Given the description of an element on the screen output the (x, y) to click on. 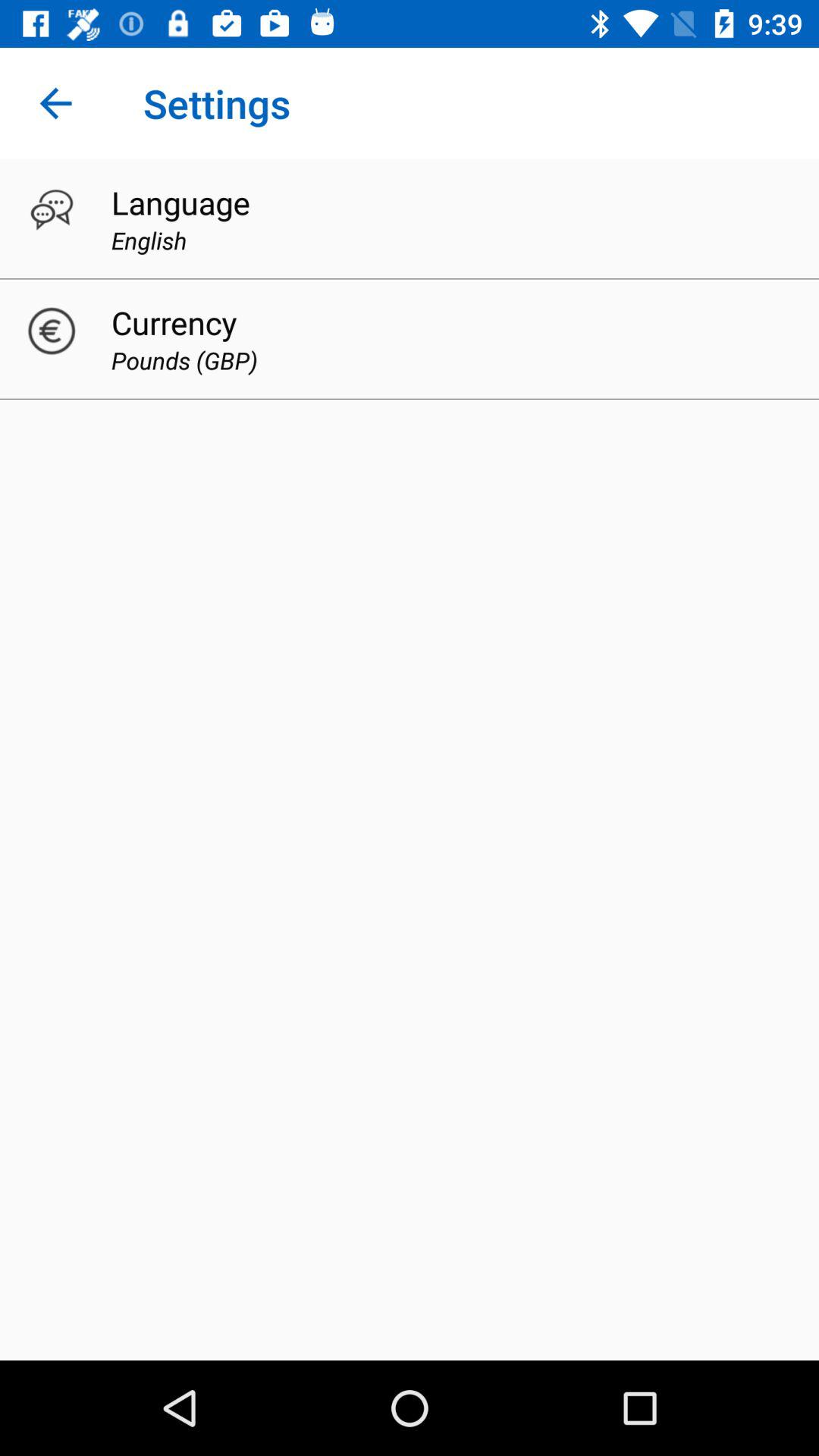
tap the icon below the language (149, 240)
